Given the description of an element on the screen output the (x, y) to click on. 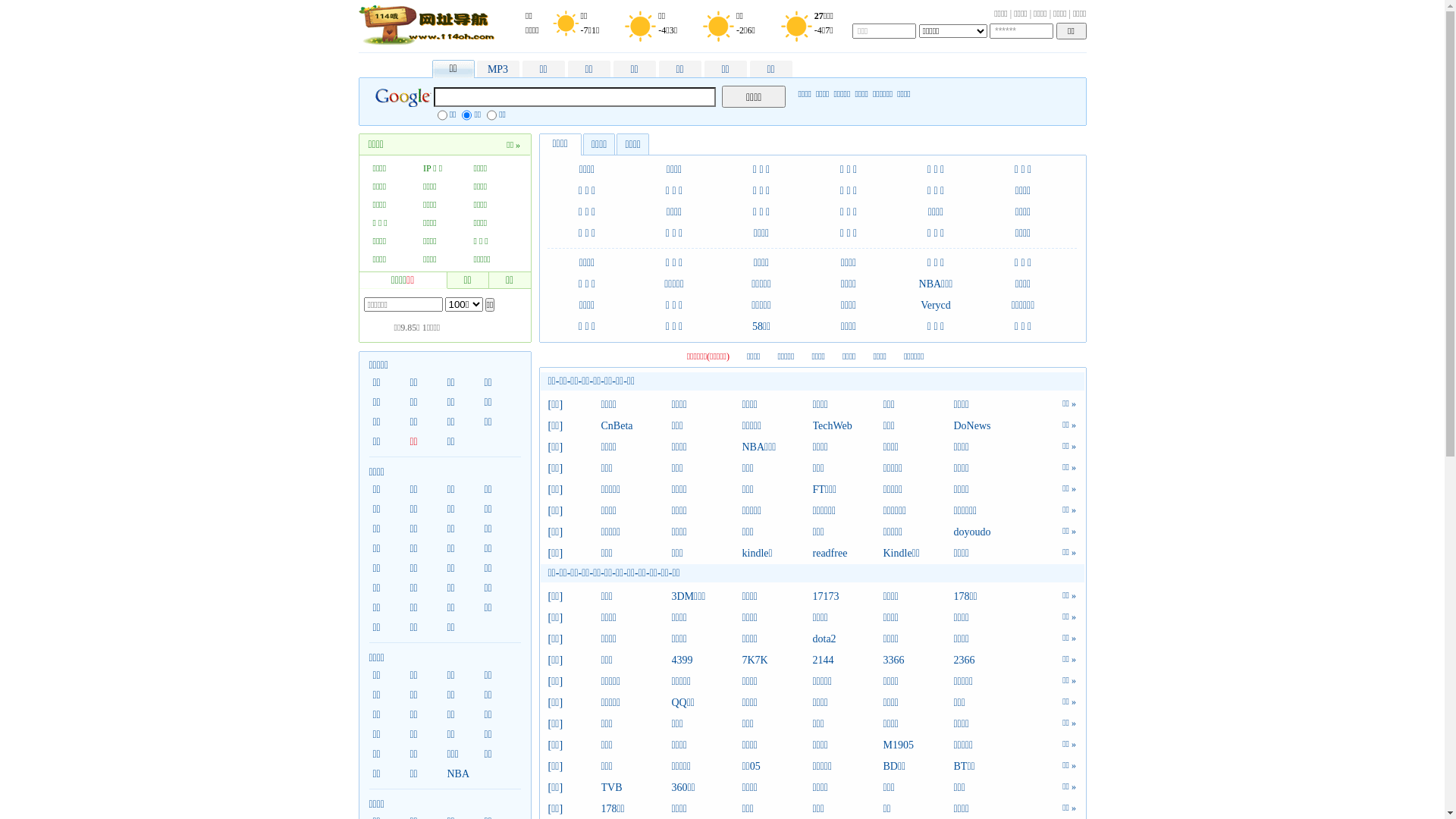
17173 Element type: text (847, 596)
3366 Element type: text (917, 660)
on Element type: text (491, 114)
Verycd Element type: text (935, 304)
dota2 Element type: text (847, 638)
CnBeta Element type: text (635, 425)
M1905 Element type: text (917, 745)
4399 Element type: text (706, 660)
7K7K Element type: text (776, 660)
DoNews Element type: text (988, 425)
TVB Element type: text (635, 787)
on Element type: text (466, 114)
2366 Element type: text (988, 660)
on Element type: text (442, 114)
NBA Element type: text (461, 774)
readfree Element type: text (847, 553)
doyoudo Element type: text (988, 531)
2144 Element type: text (847, 660)
TechWeb Element type: text (847, 425)
